Given the description of an element on the screen output the (x, y) to click on. 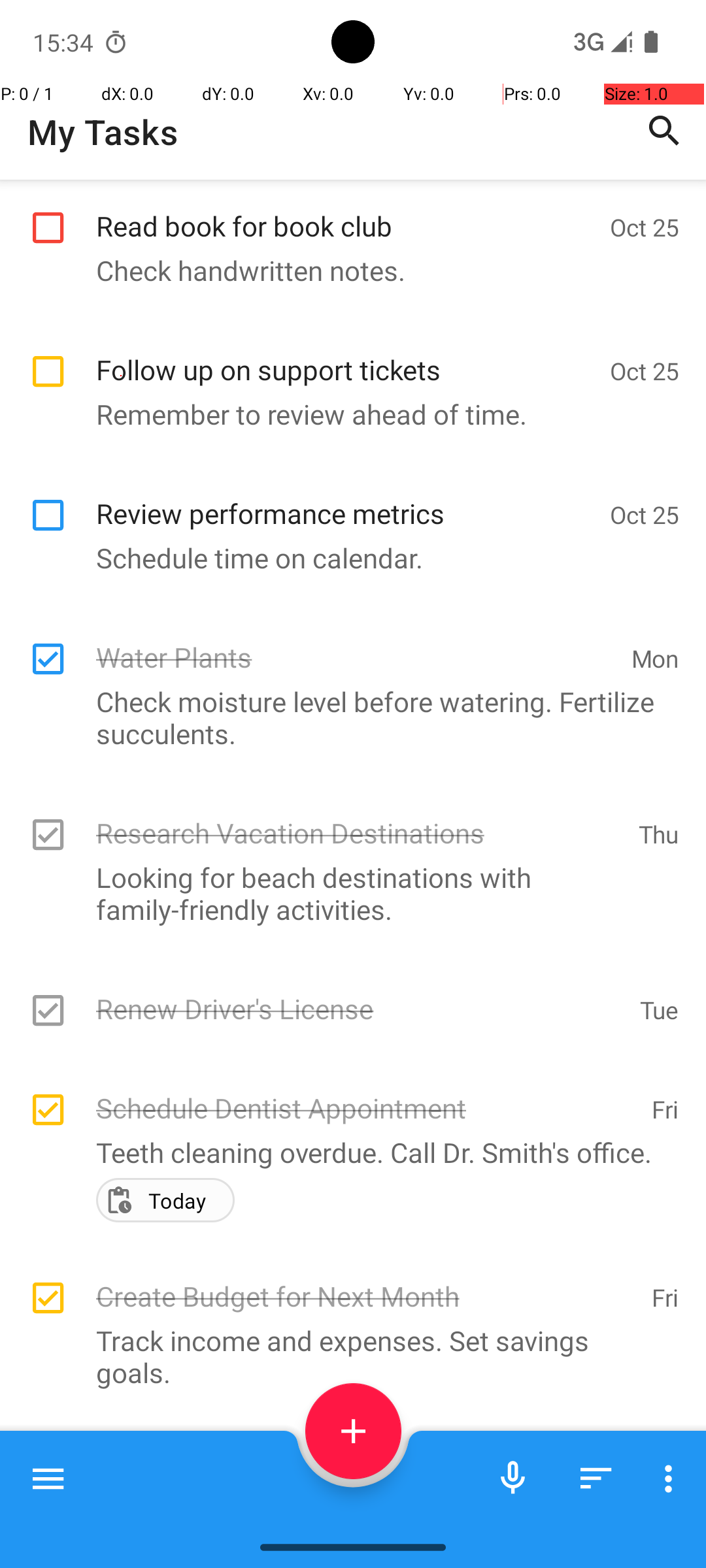
Read book for book club Element type: android.widget.TextView (346, 211)
Check handwritten notes. Element type: android.widget.TextView (346, 269)
Oct 25 Element type: android.widget.TextView (644, 226)
Follow up on support tickets Element type: android.widget.TextView (346, 355)
Remember to review ahead of time. Element type: android.widget.TextView (346, 413)
Review performance metrics Element type: android.widget.TextView (346, 499)
Schedule time on calendar. Element type: android.widget.TextView (346, 557)
